Given the description of an element on the screen output the (x, y) to click on. 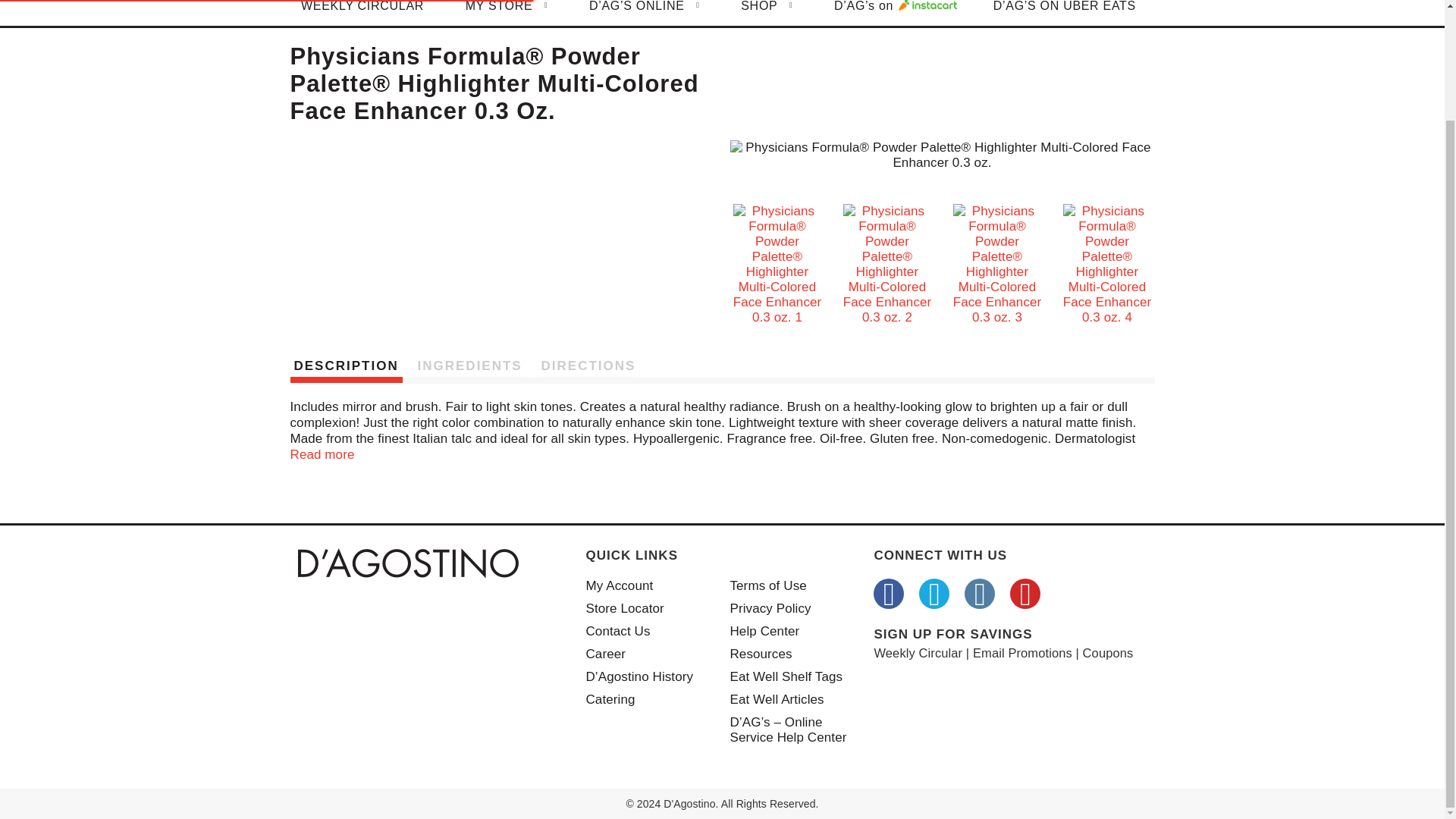
Twitter (933, 593)
MY STORE (507, 12)
Facebook (888, 593)
YouTube (1025, 593)
instagram (978, 593)
WEEKLY CIRCULAR (362, 12)
